Given the description of an element on the screen output the (x, y) to click on. 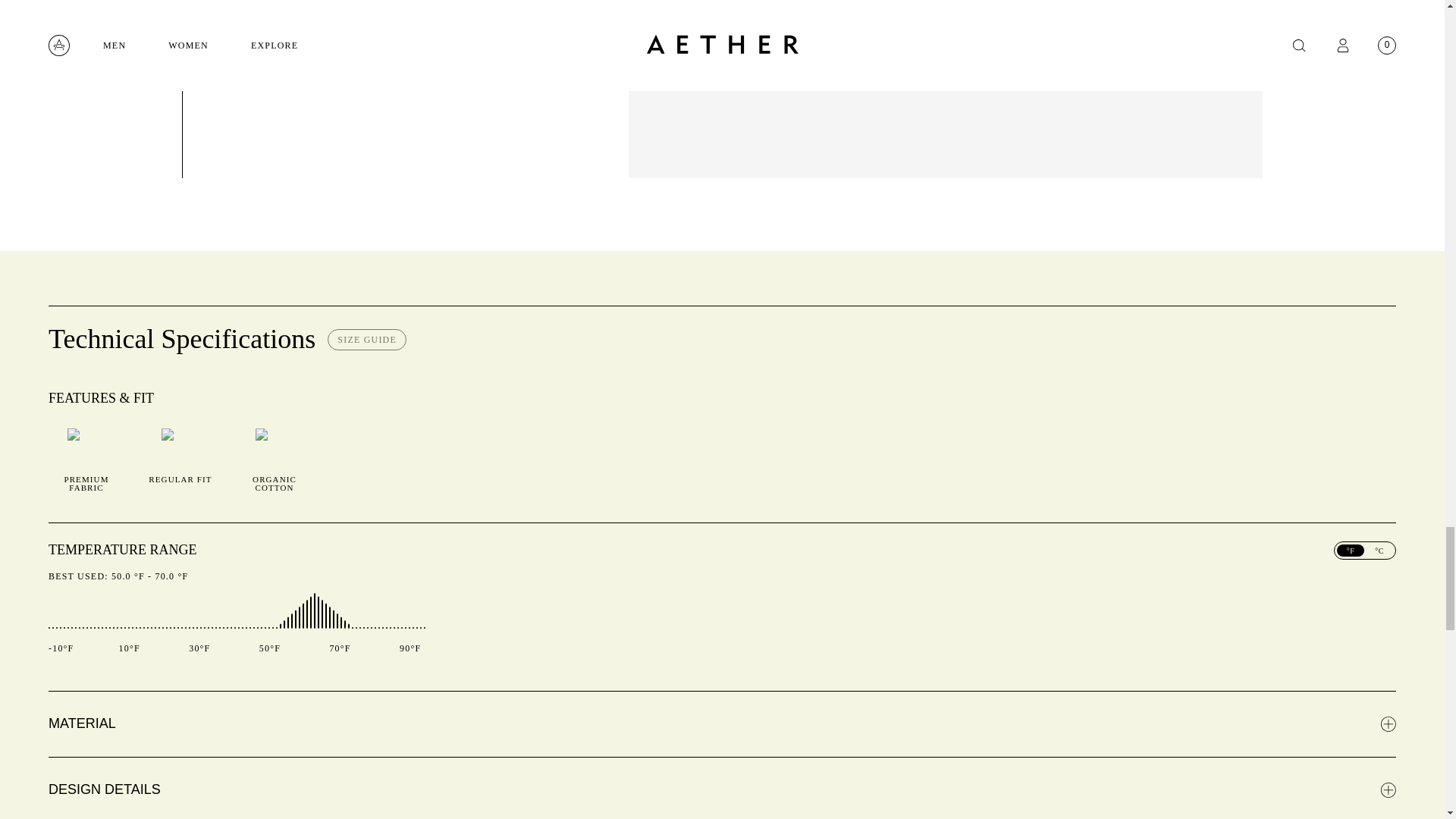
SIZE GUIDE (366, 339)
DESIGN DETAILS (722, 787)
MATERIAL (722, 723)
